Given the description of an element on the screen output the (x, y) to click on. 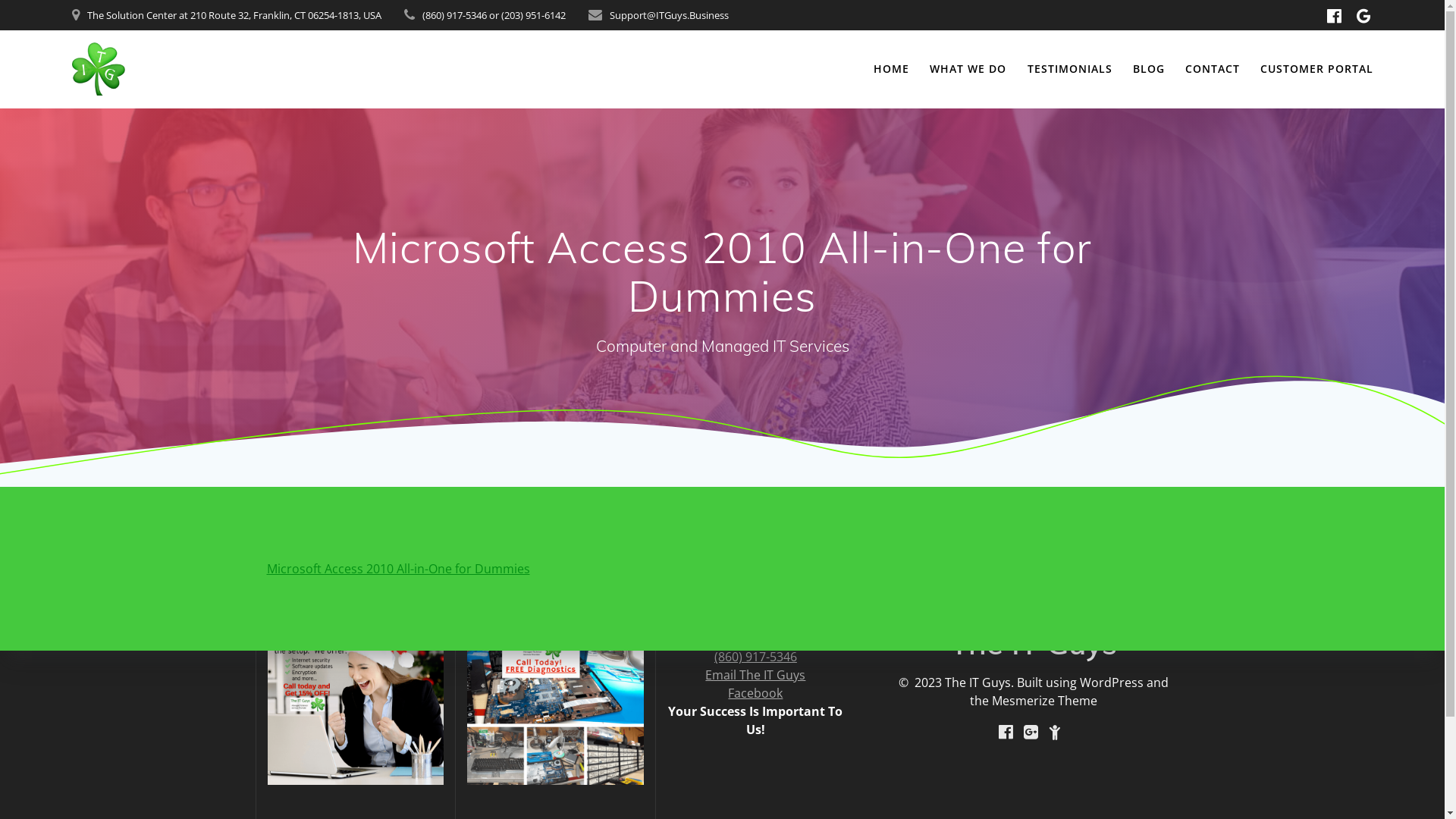
Email The IT Guys Element type: text (755, 674)
Microsoft Access 2010 All-in-One for Dummies Element type: text (398, 568)
BLOG Element type: text (1148, 68)
Facebook Element type: text (755, 692)
CUSTOMER PORTAL Element type: text (1316, 68)
CONTACT Element type: text (1212, 68)
WHAT WE DO Element type: text (967, 68)
Mesmerize Theme Element type: text (1044, 700)
HOME Element type: text (891, 68)
(860) 917-5346 Element type: text (755, 656)
TESTIMONIALS Element type: text (1069, 68)
